Given the description of an element on the screen output the (x, y) to click on. 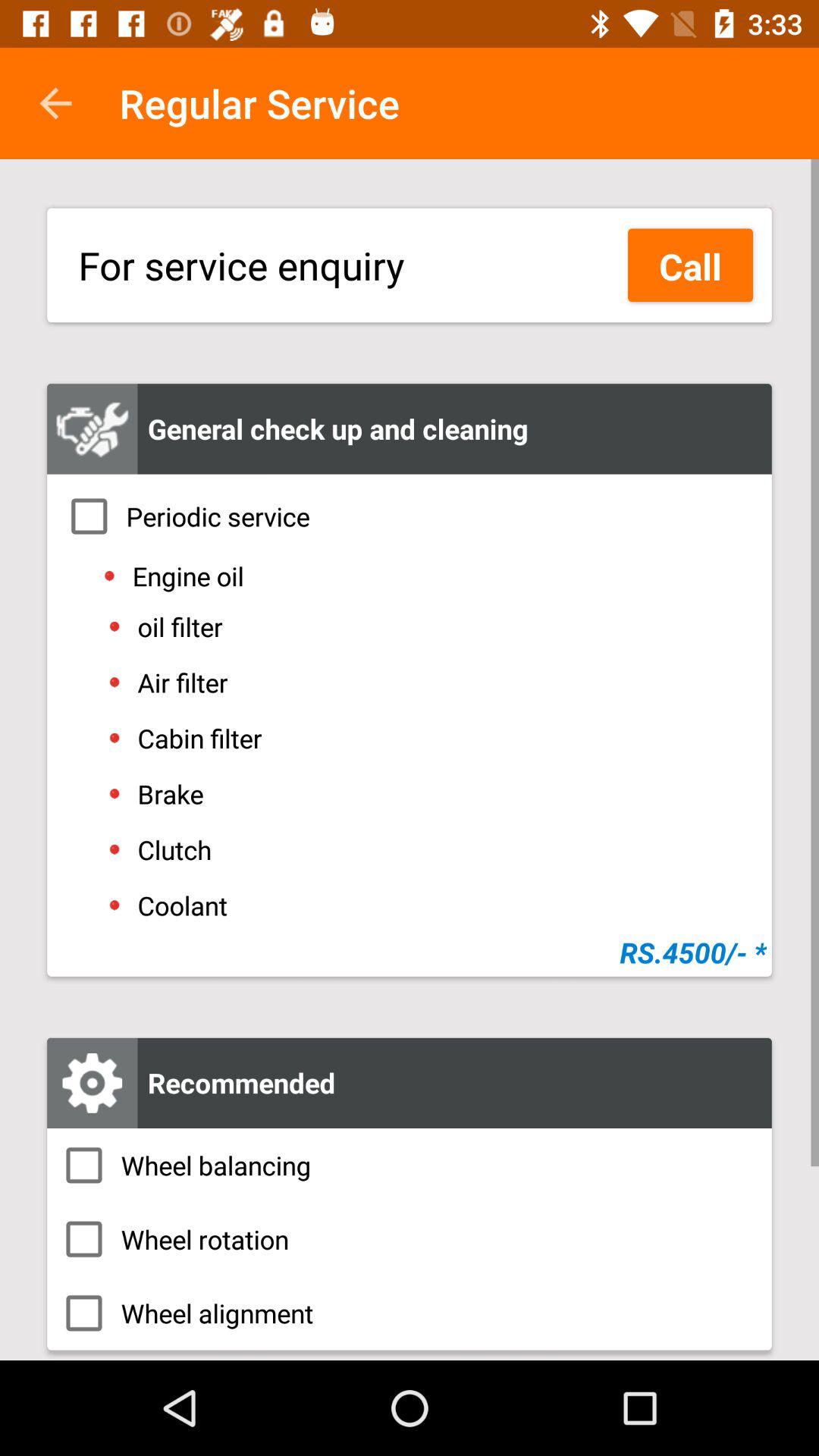
swipe to wheel balancing icon (409, 1165)
